Given the description of an element on the screen output the (x, y) to click on. 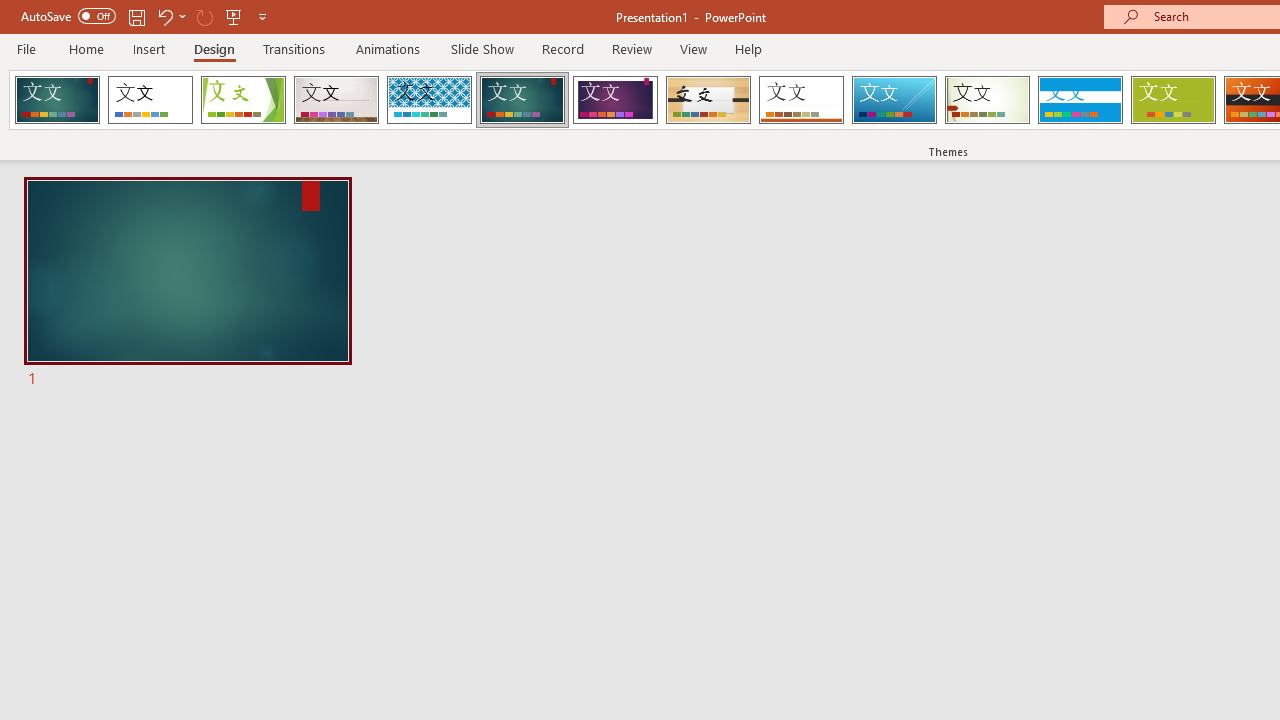
Banded Loading Preview... (1080, 100)
